Given the description of an element on the screen output the (x, y) to click on. 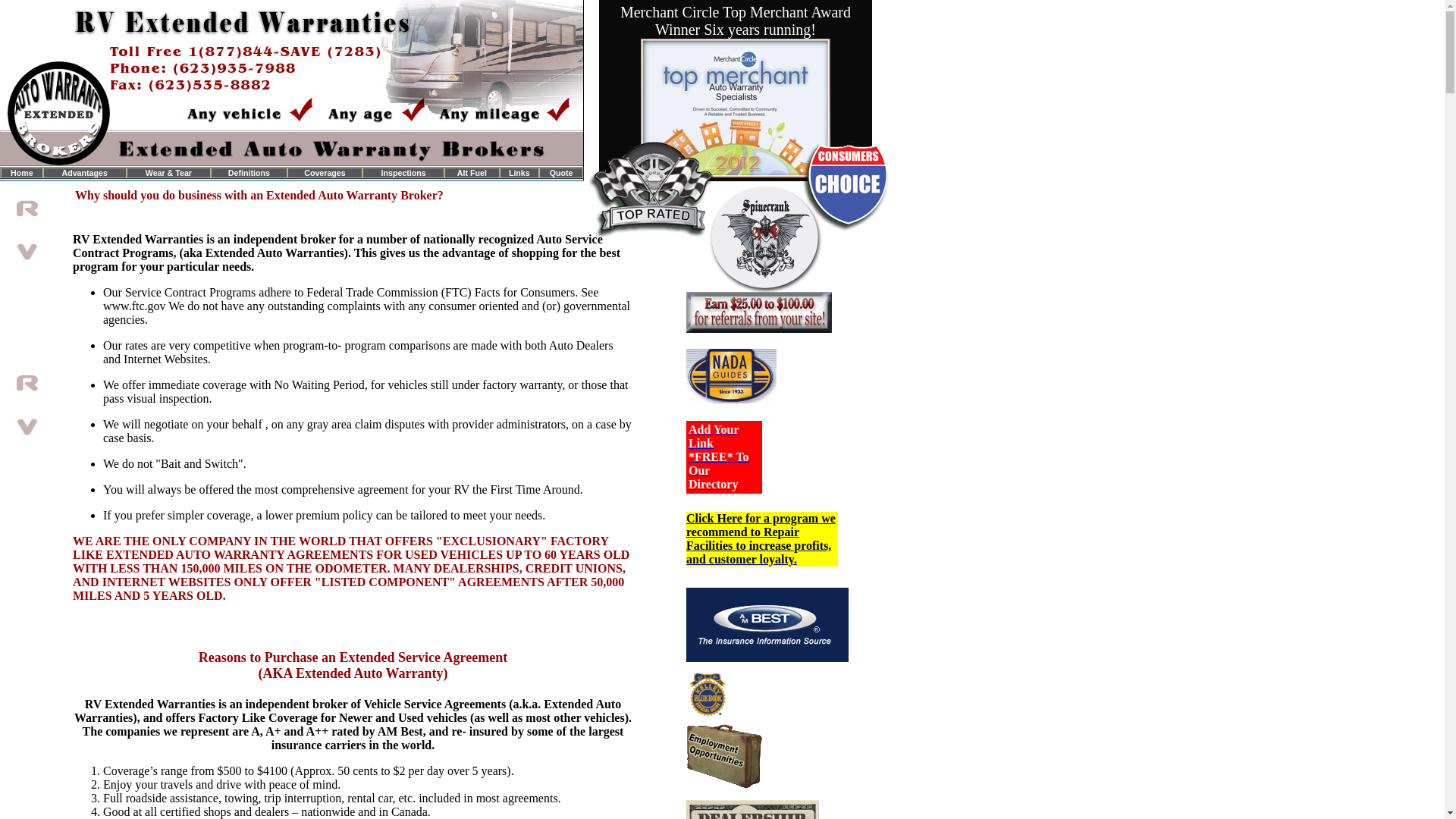
Advantages (83, 172)
Definitions (248, 172)
Inspections (403, 172)
Coverages (325, 172)
Links (518, 172)
Alt Fuel (471, 172)
Home (21, 172)
Quote (561, 172)
